Given the description of an element on the screen output the (x, y) to click on. 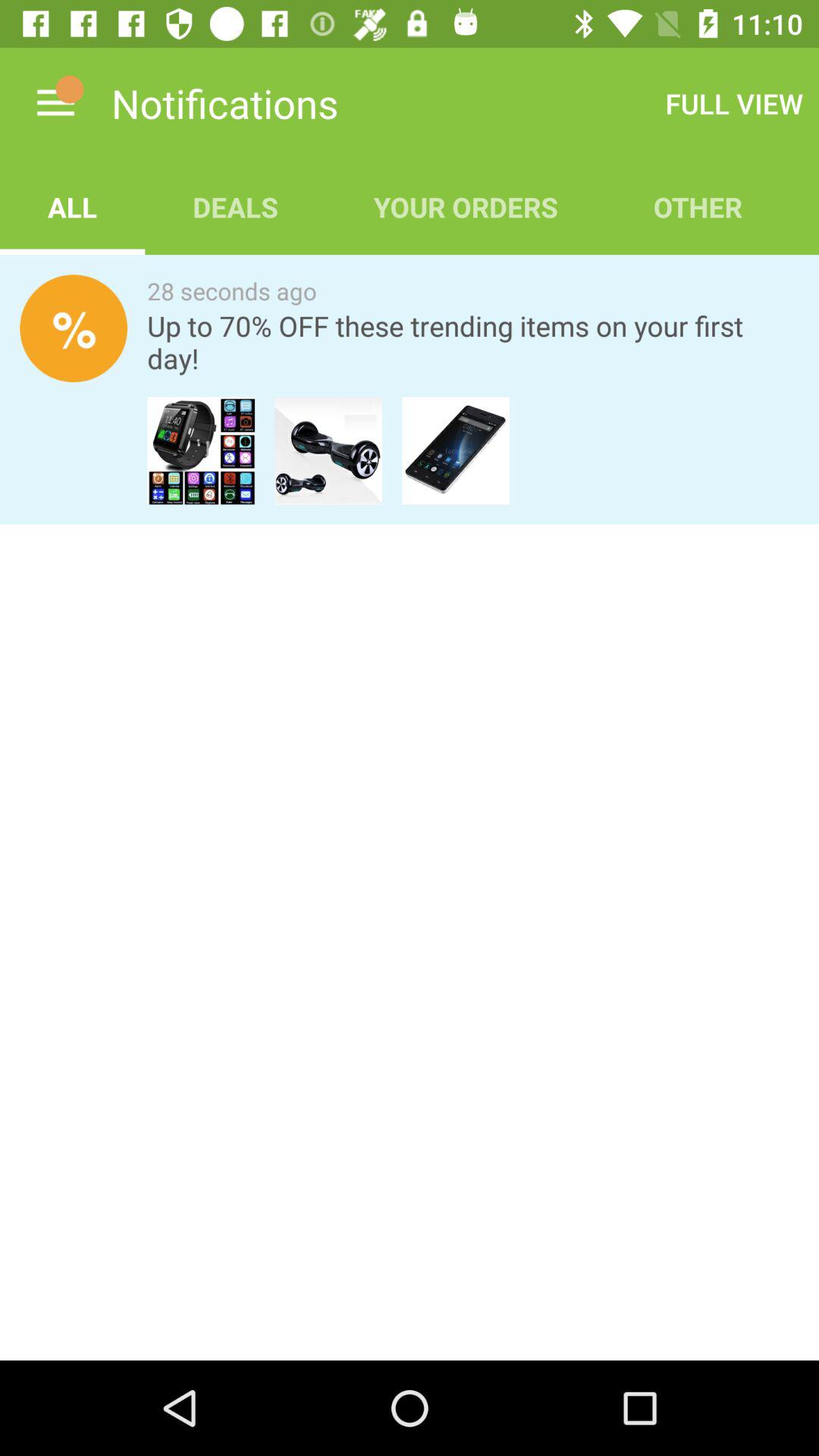
flip until the deals app (235, 206)
